Given the description of an element on the screen output the (x, y) to click on. 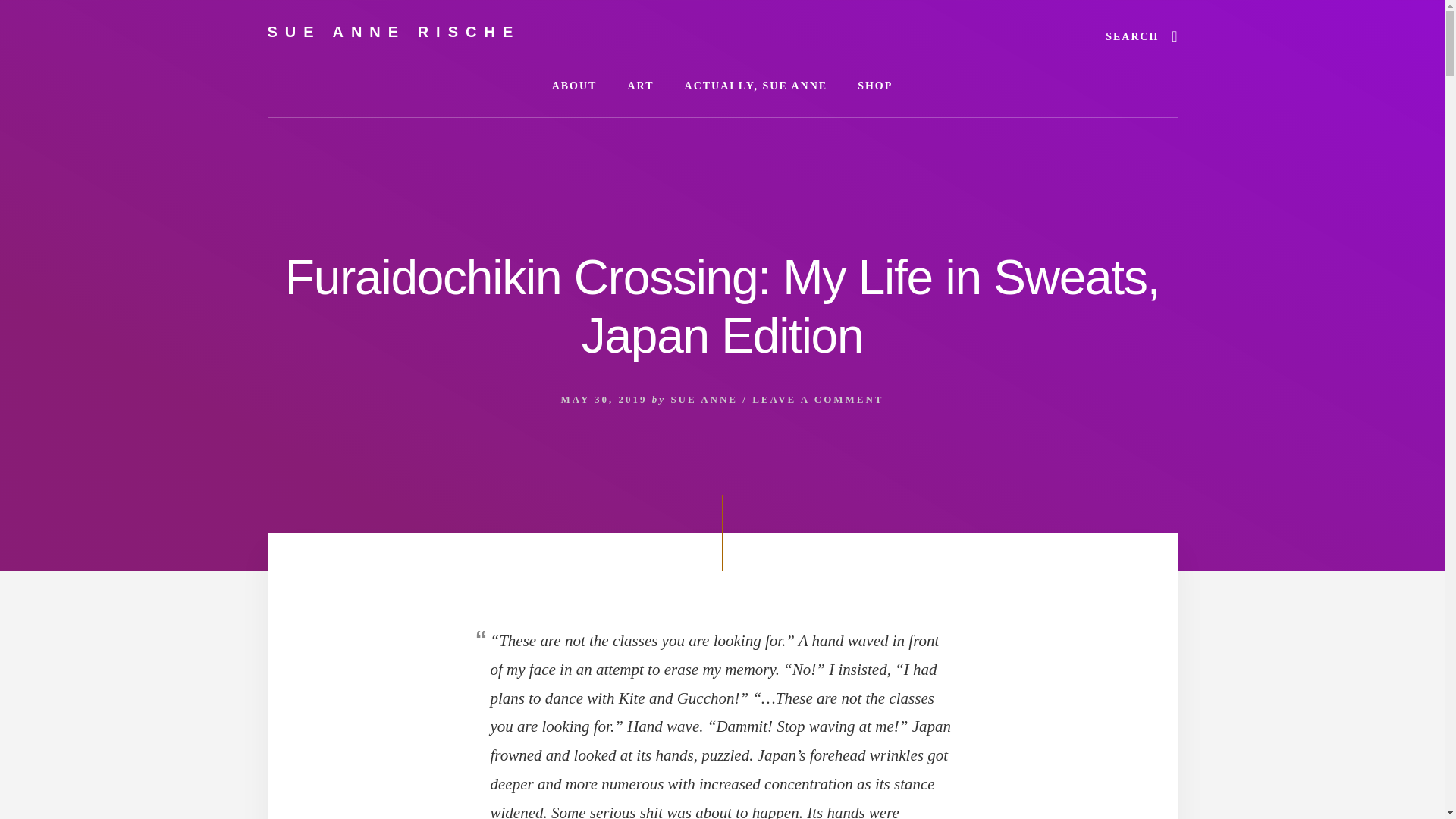
SHOP (875, 86)
SUE ANNE RISCHE (392, 31)
ART (639, 86)
SUE ANNE (703, 398)
ABOUT (574, 86)
ACTUALLY, SUE ANNE (756, 86)
